Given the description of an element on the screen output the (x, y) to click on. 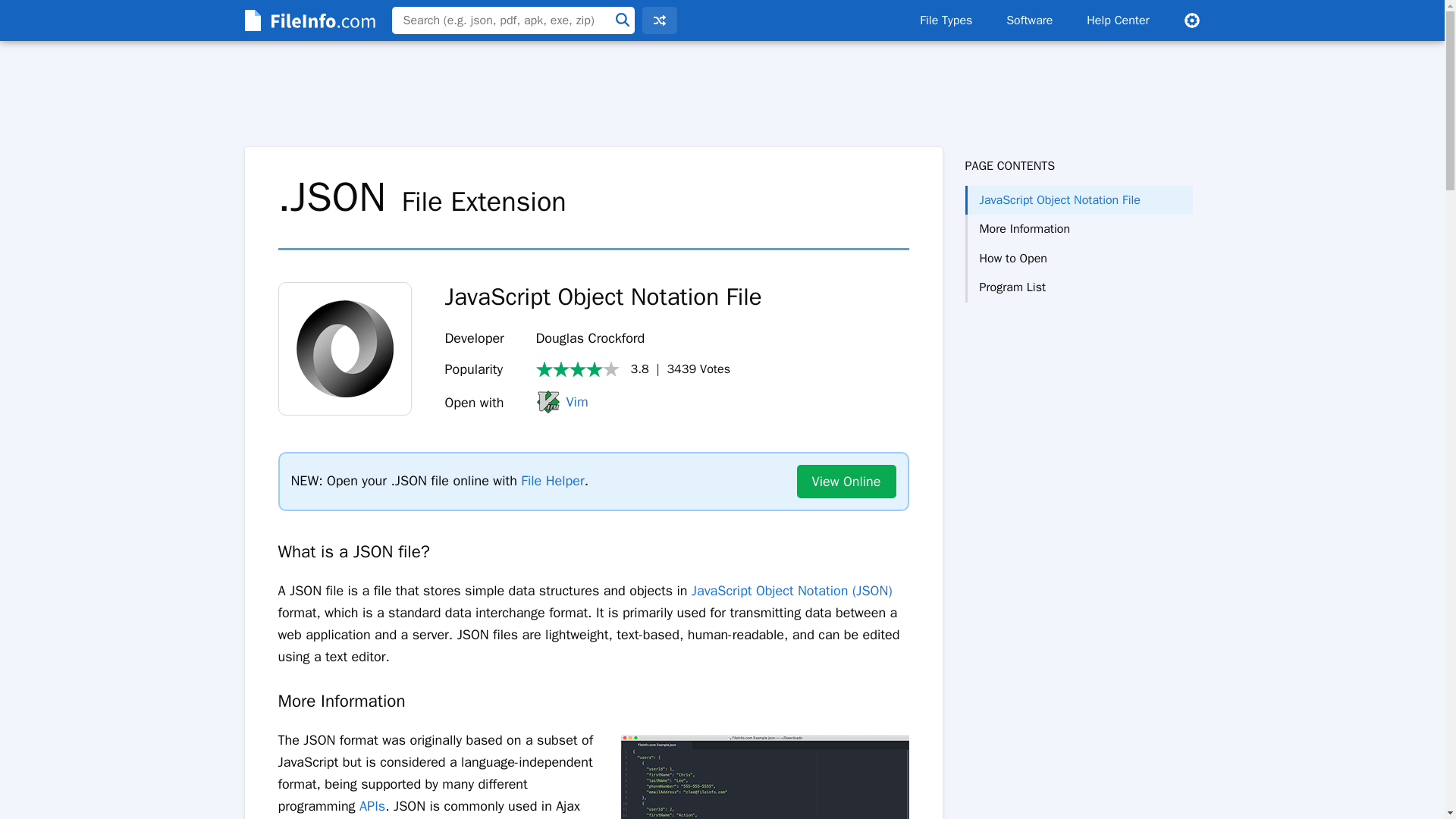
File Types (945, 20)
APIs (372, 805)
Document Icon (344, 348)
Help Center (1117, 20)
FileInfo (307, 20)
Software (1029, 20)
3rd party ad content (1077, 363)
Random (659, 20)
Settings (1190, 20)
Vim (561, 401)
JSON File Screenshot (764, 776)
3rd party ad content (721, 94)
